Given the description of an element on the screen output the (x, y) to click on. 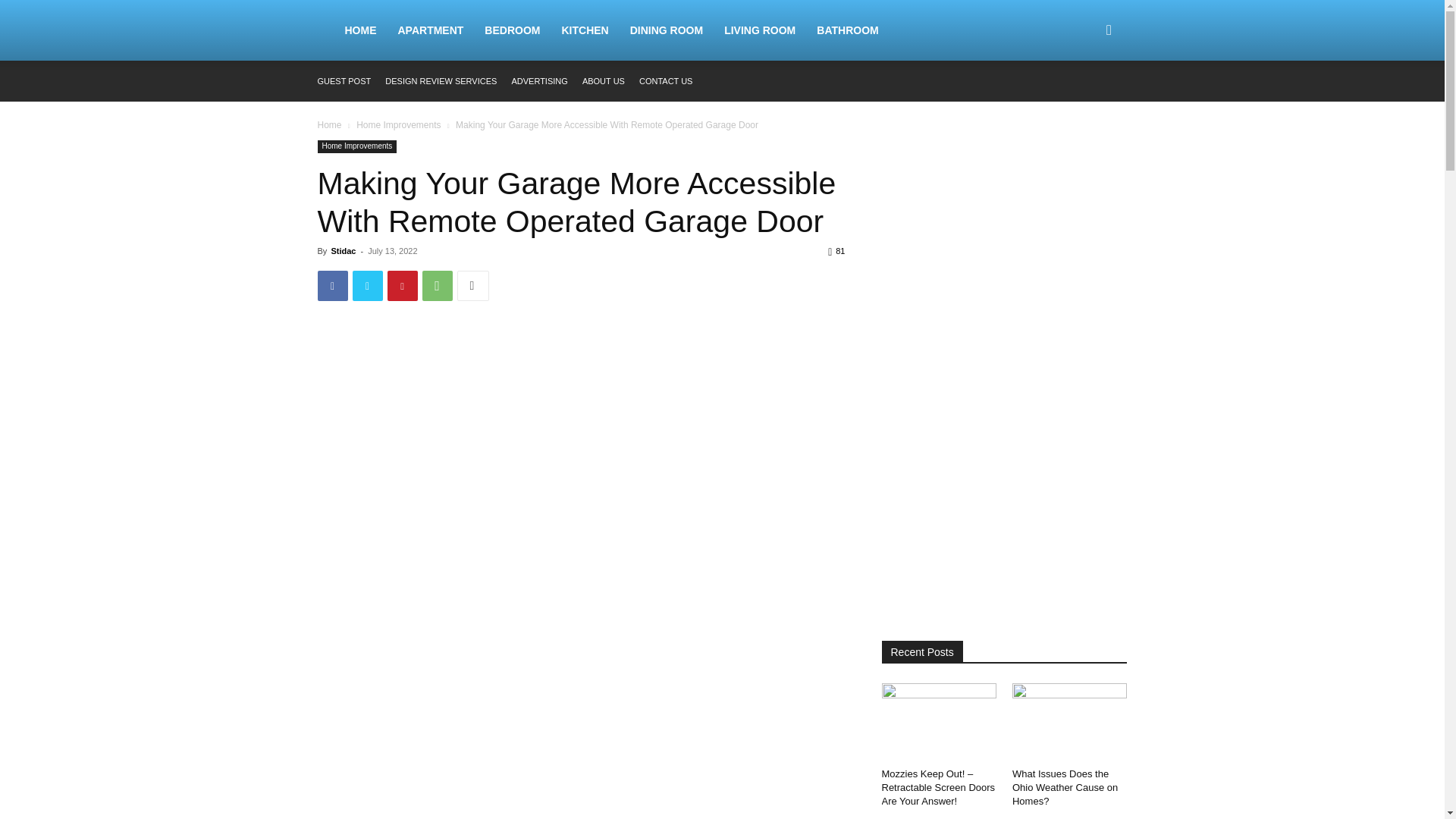
ABOUT US (603, 80)
Facebook (332, 286)
Pinterest (401, 286)
View all posts in Home Improvements (398, 124)
DESIGN REVIEW SERVICES (440, 80)
Twitter (366, 286)
CONTACT US (666, 80)
GUEST POST (344, 80)
Home (328, 124)
WhatsApp (436, 286)
